Given the description of an element on the screen output the (x, y) to click on. 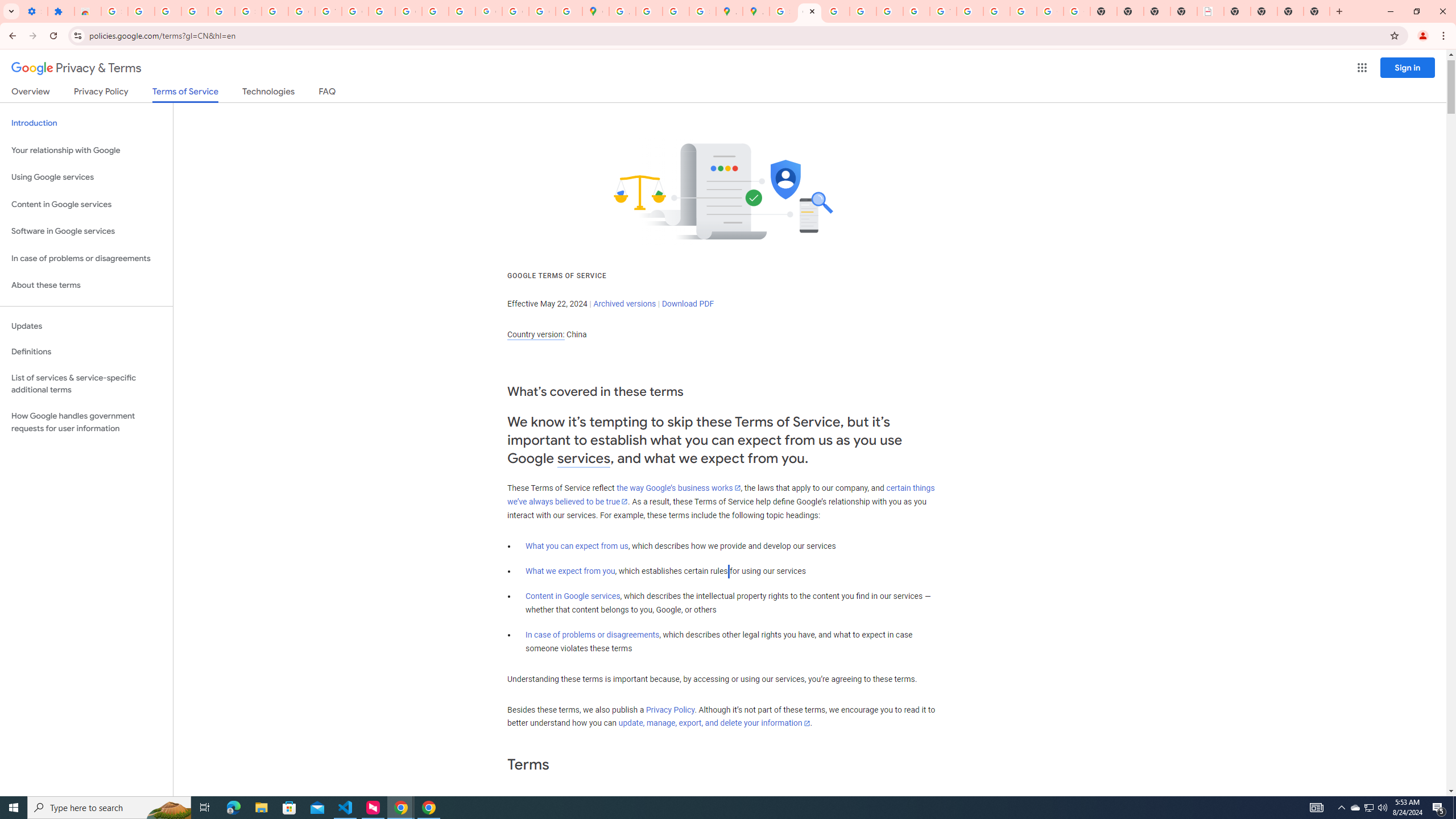
Safety in Our Products - Google Safety Center (702, 11)
What we expect from you (570, 570)
Google Account (301, 11)
